Given the description of an element on the screen output the (x, y) to click on. 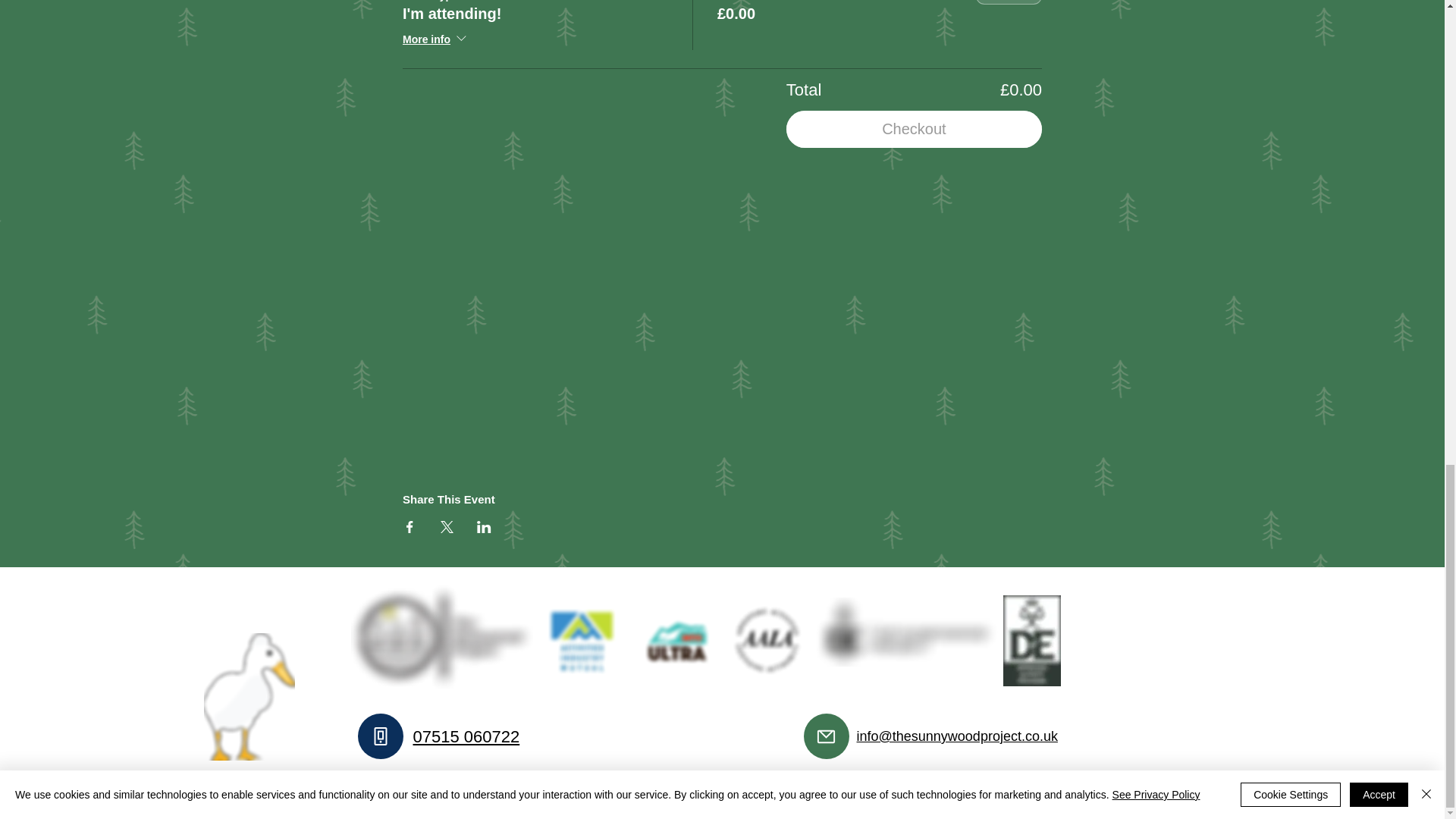
Checkout (914, 129)
More info (435, 39)
